Given the description of an element on the screen output the (x, y) to click on. 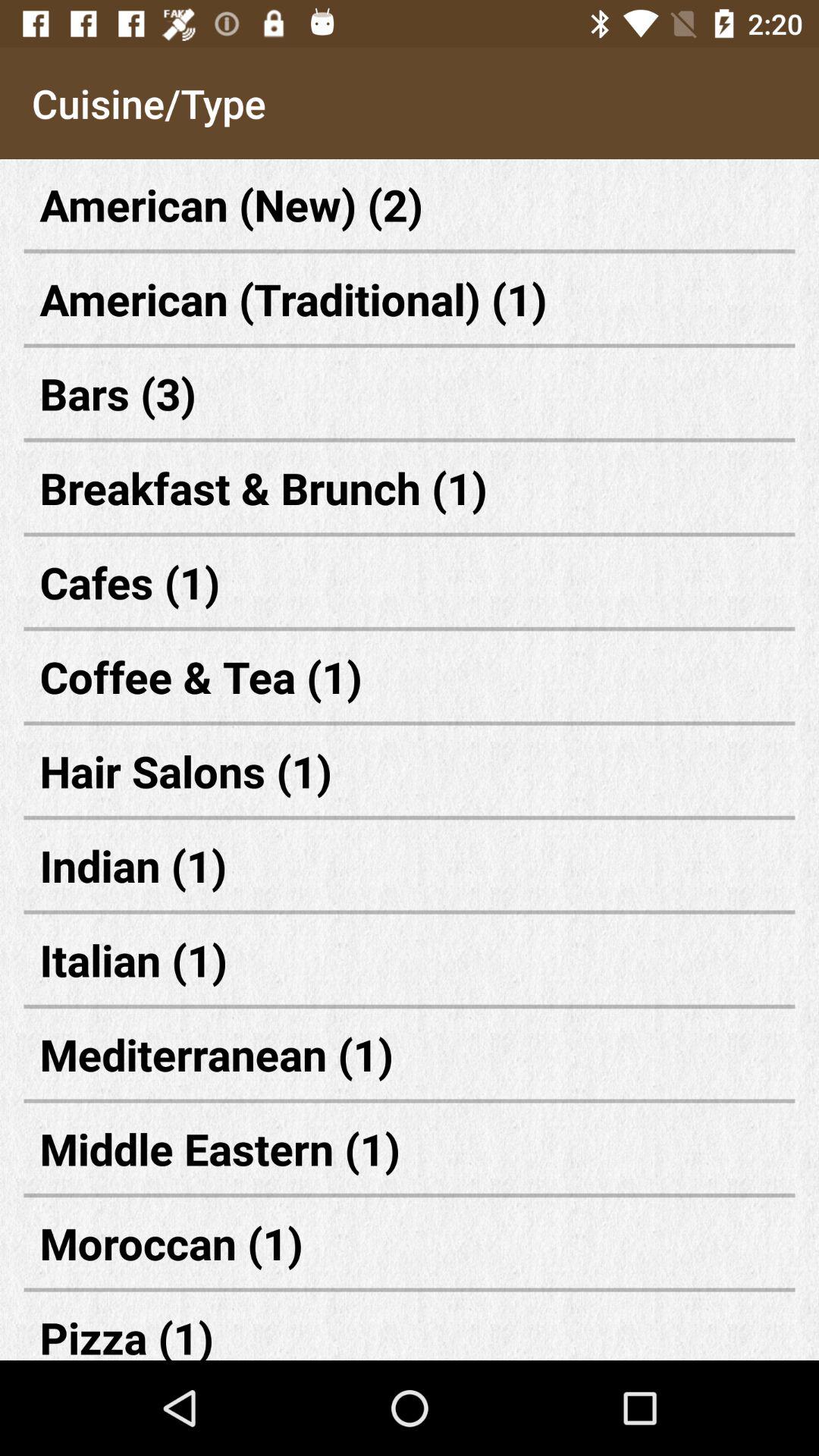
turn on item below coffee & tea (1) icon (409, 770)
